Given the description of an element on the screen output the (x, y) to click on. 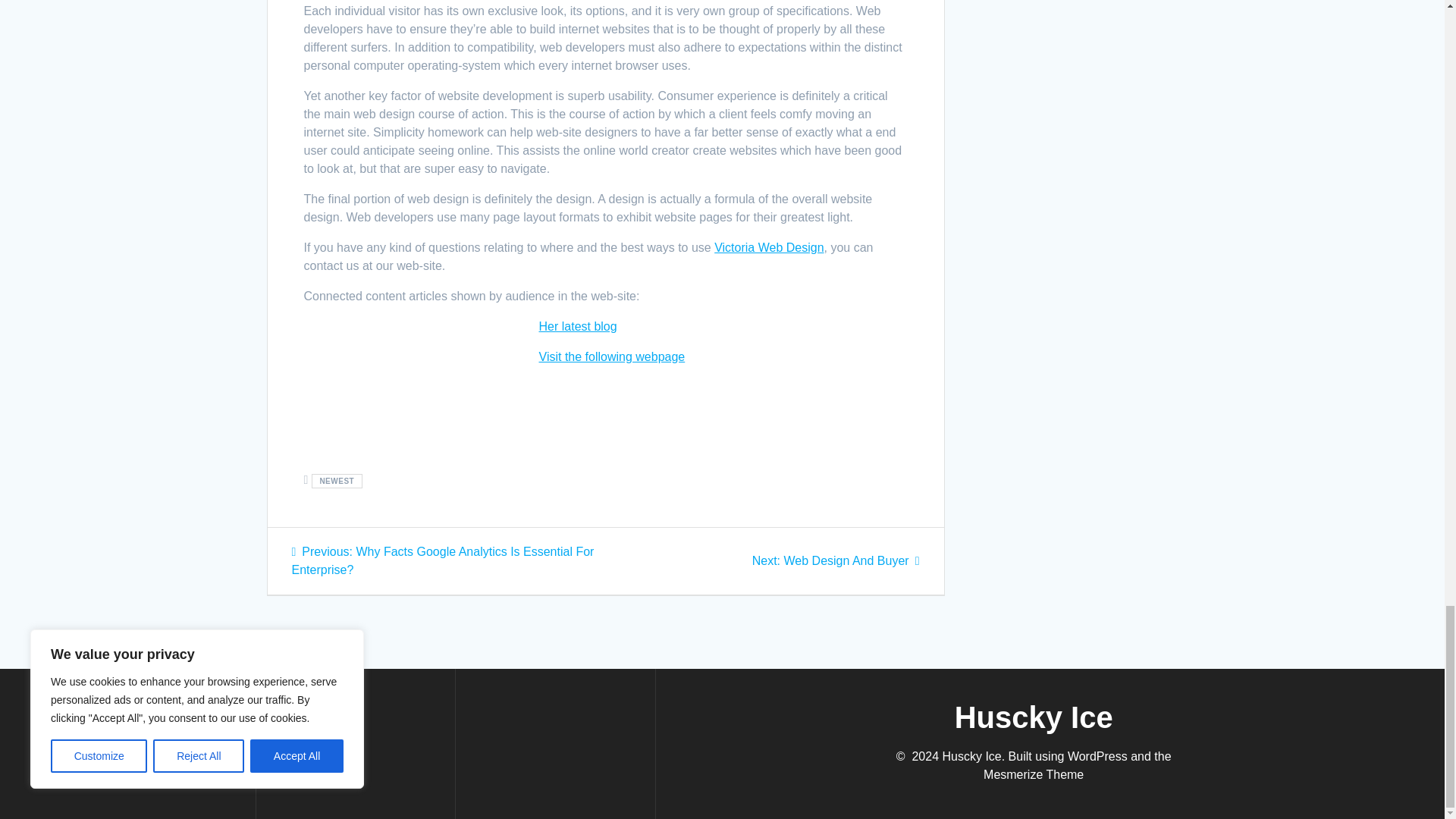
Visit the following webpage (611, 356)
NEWEST (836, 560)
Her latest blog (336, 481)
Victoria Web Design (576, 326)
